Given the description of an element on the screen output the (x, y) to click on. 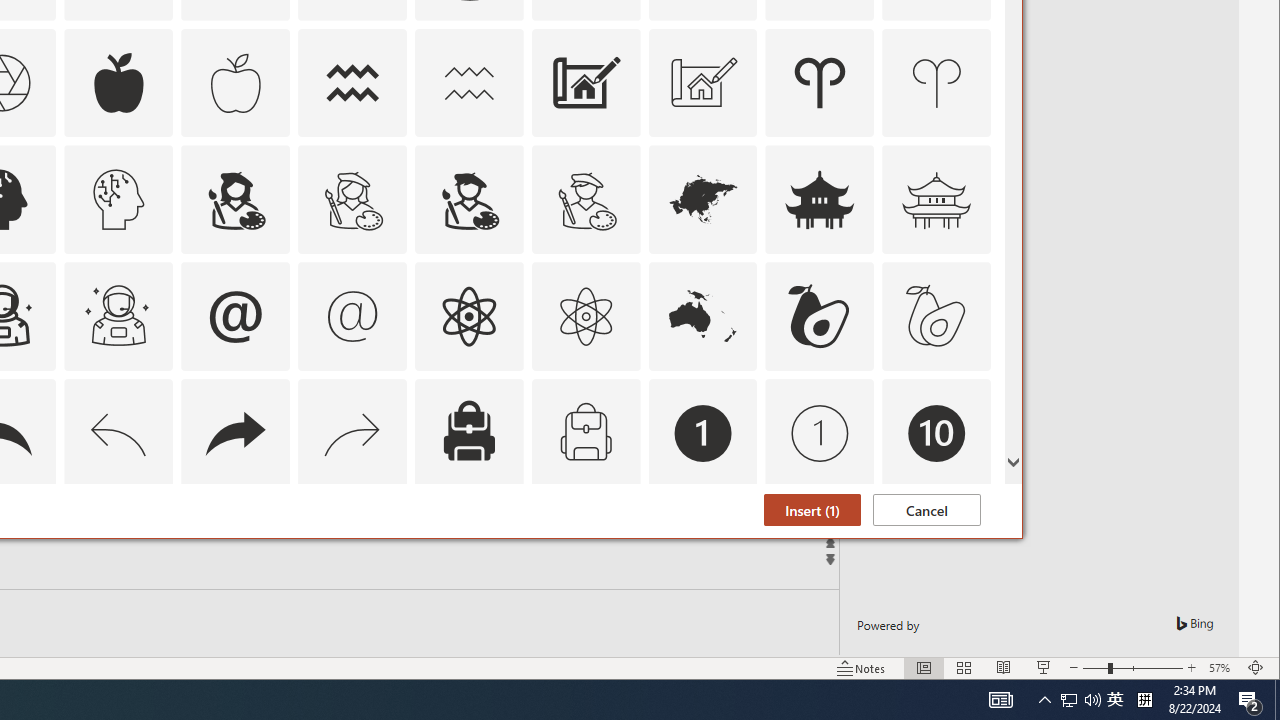
AutomationID: Icons_Back_RTL_M (353, 434)
AutomationID: Icons_Aries_M (936, 82)
Zoom 57% (1222, 668)
AutomationID: Icons_ArtistFemale (235, 200)
AutomationID: Icons_Architecture (586, 82)
AutomationID: Icons_Architecture_M (702, 82)
Cancel (926, 509)
AutomationID: Icons_Apple (118, 82)
